Given the description of an element on the screen output the (x, y) to click on. 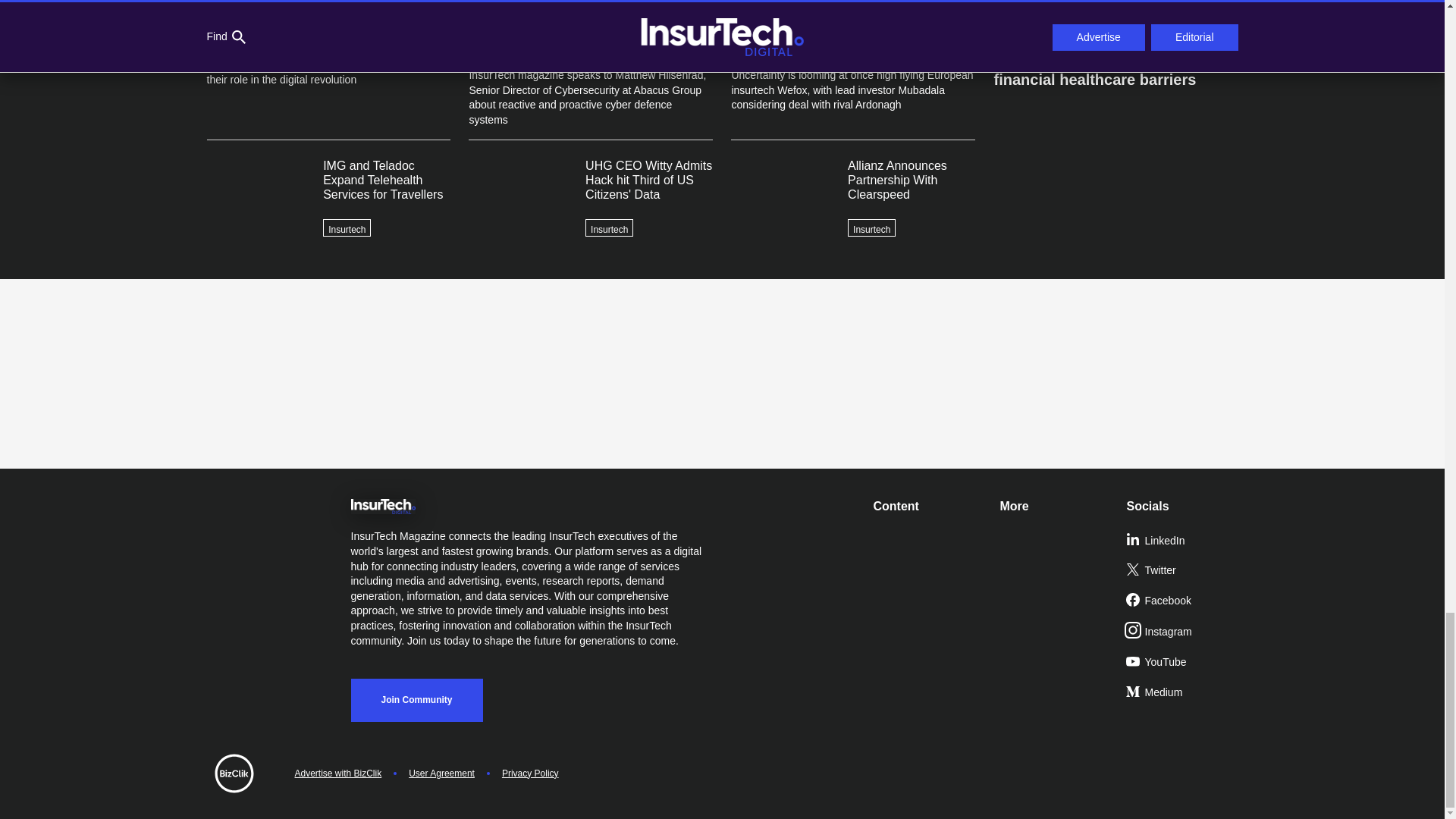
MoneyLIVE Summit 2024: Qover Talks Embedded Insurance (1114, 18)
Join Community (415, 699)
